Given the description of an element on the screen output the (x, y) to click on. 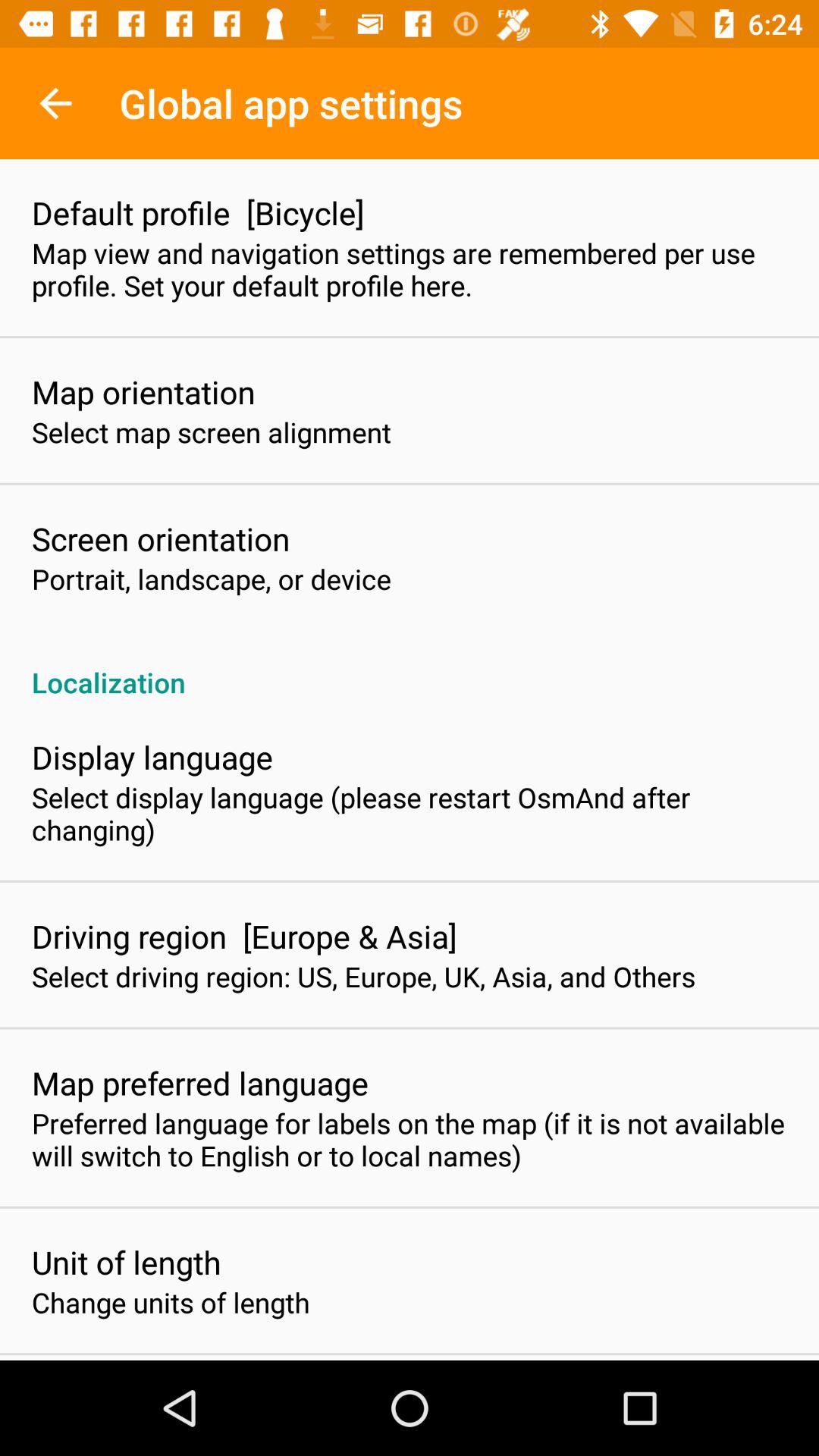
click icon next to global app settings item (55, 103)
